Given the description of an element on the screen output the (x, y) to click on. 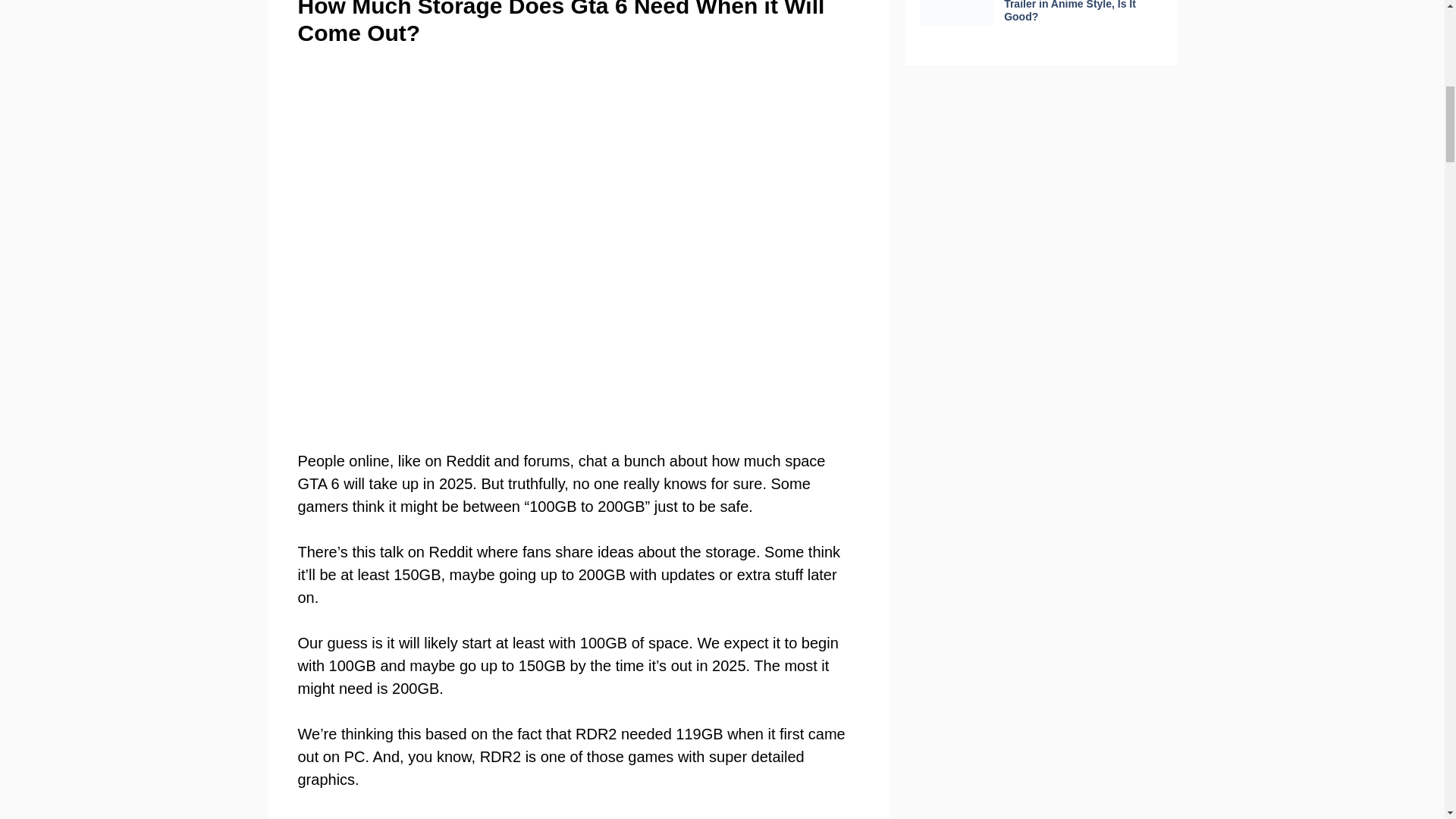
Sora AI Recreates GTA 6 Trailer in Anime Style, Is It Good? (1069, 11)
